Given the description of an element on the screen output the (x, y) to click on. 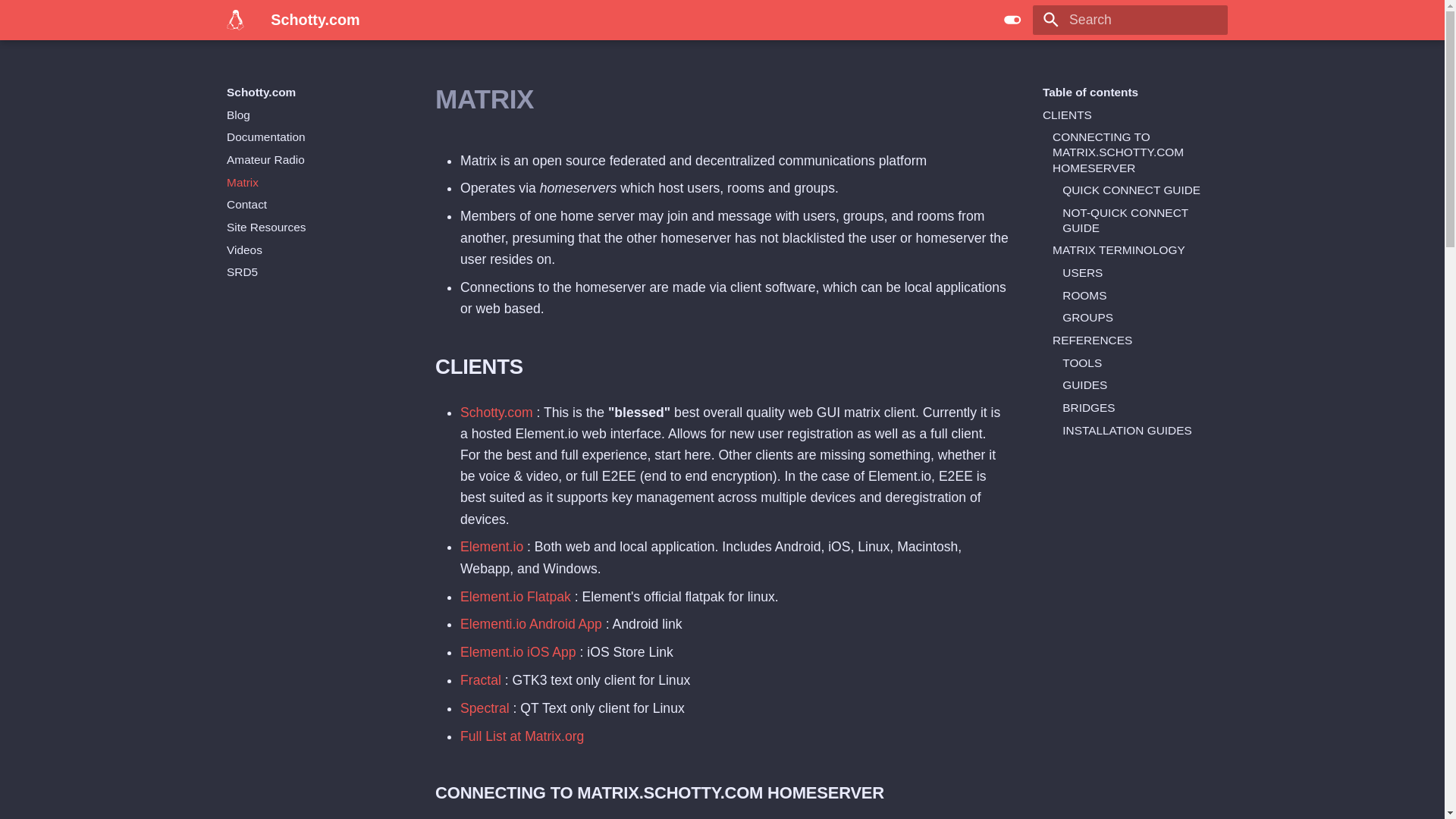
USERS (1139, 272)
QUICK CONNECT GUIDE (1139, 190)
Blog (314, 114)
REFERENCES (1134, 340)
Documentation (314, 136)
Amateur Radio (314, 159)
Switch to Fedora Blue Mode (1012, 19)
SRD5 (314, 272)
NOT-QUICK CONNECT GUIDE (1139, 220)
ROOMS (1139, 295)
